Given the description of an element on the screen output the (x, y) to click on. 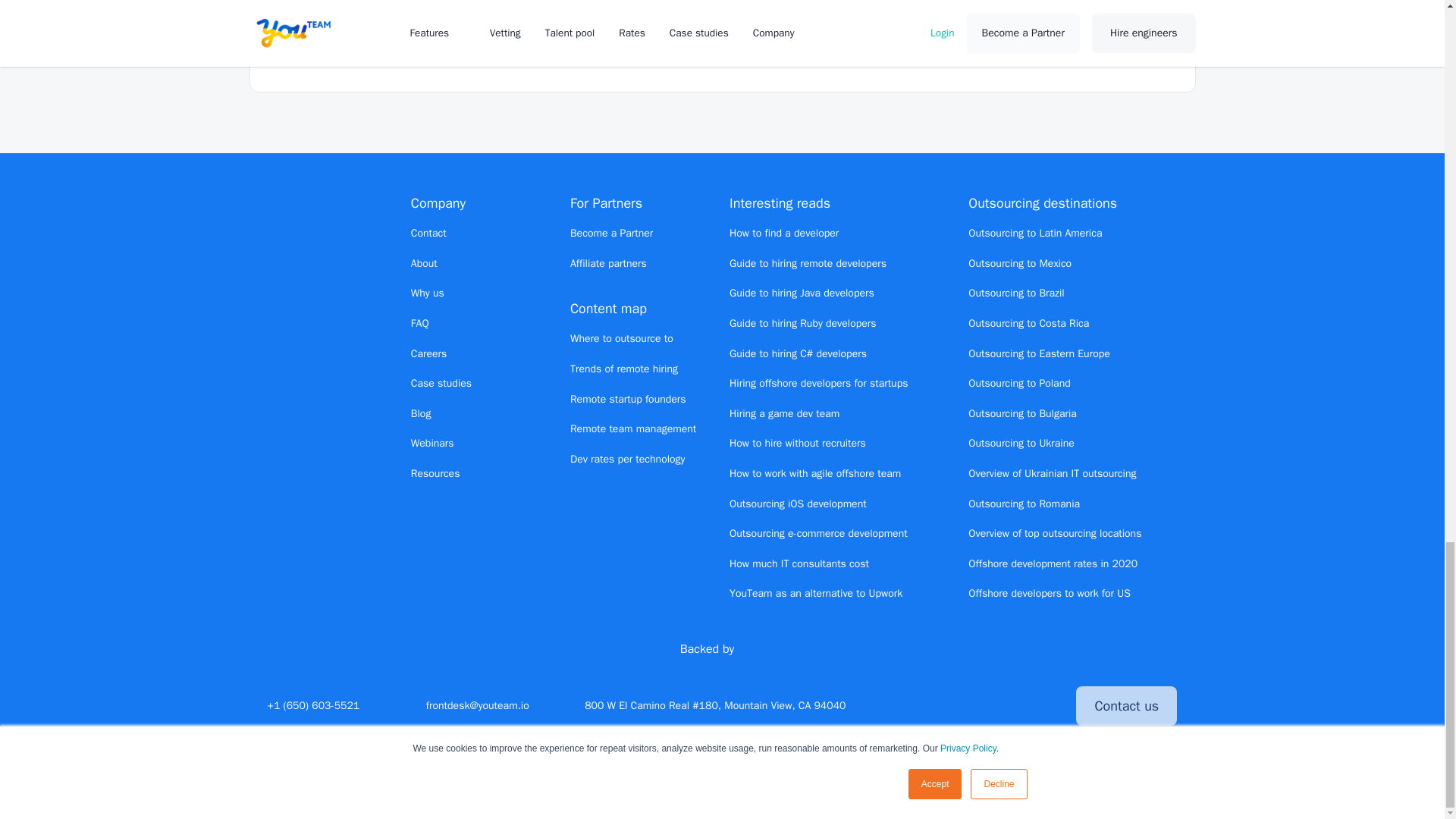
LinkedIn (964, 705)
Remote team management (632, 428)
About (424, 263)
Dev rates per technology (627, 459)
Twitter (937, 705)
Case studies (440, 382)
Check if Salvador is available (993, 9)
Contact (428, 233)
Careers (428, 353)
Become a Partner (611, 232)
Where to outsource to (621, 338)
Webinars (432, 442)
Affiliate partners (608, 263)
Remote startup founders (627, 399)
Why us (427, 292)
